Given the description of an element on the screen output the (x, y) to click on. 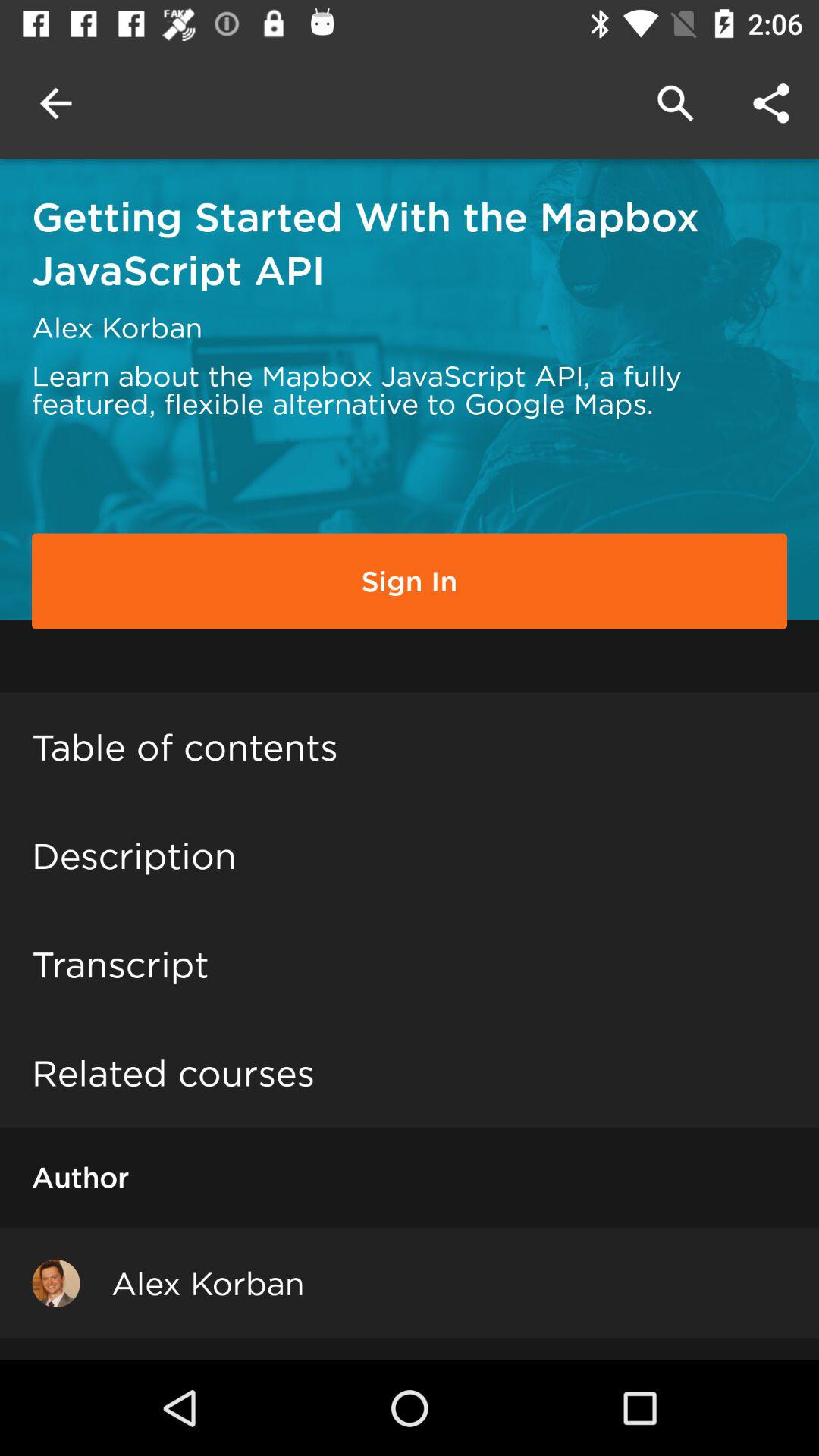
turn off the icon at the top left corner (55, 103)
